Given the description of an element on the screen output the (x, y) to click on. 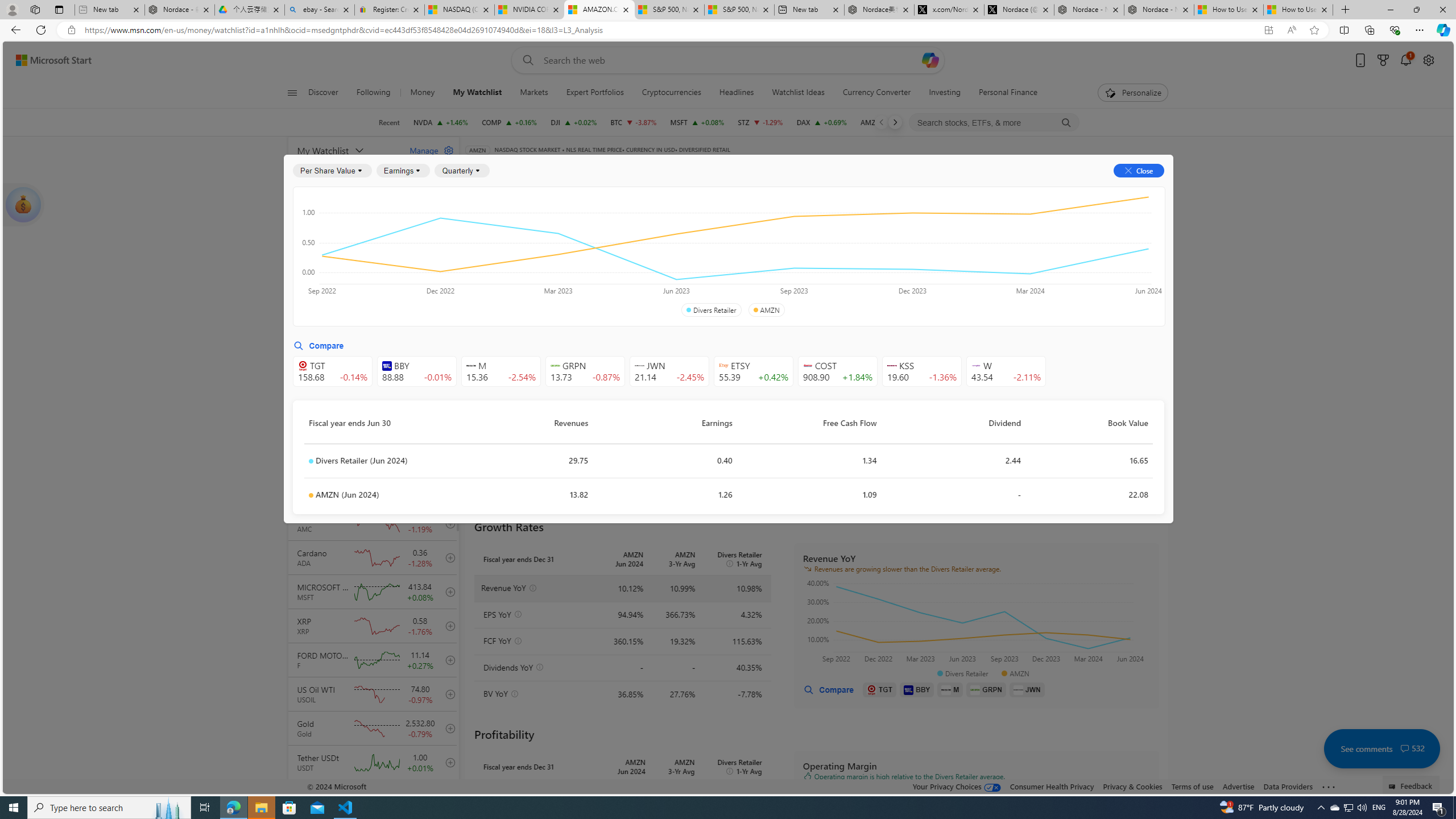
Notifications (1405, 60)
Income Statement (550, 223)
Next (895, 122)
Following (373, 92)
All (479, 253)
Quarterly (461, 170)
Financials (846, 188)
Investing (944, 92)
Currency Converter (877, 92)
Markets (534, 92)
Cryptocurrencies (671, 92)
